Given the description of an element on the screen output the (x, y) to click on. 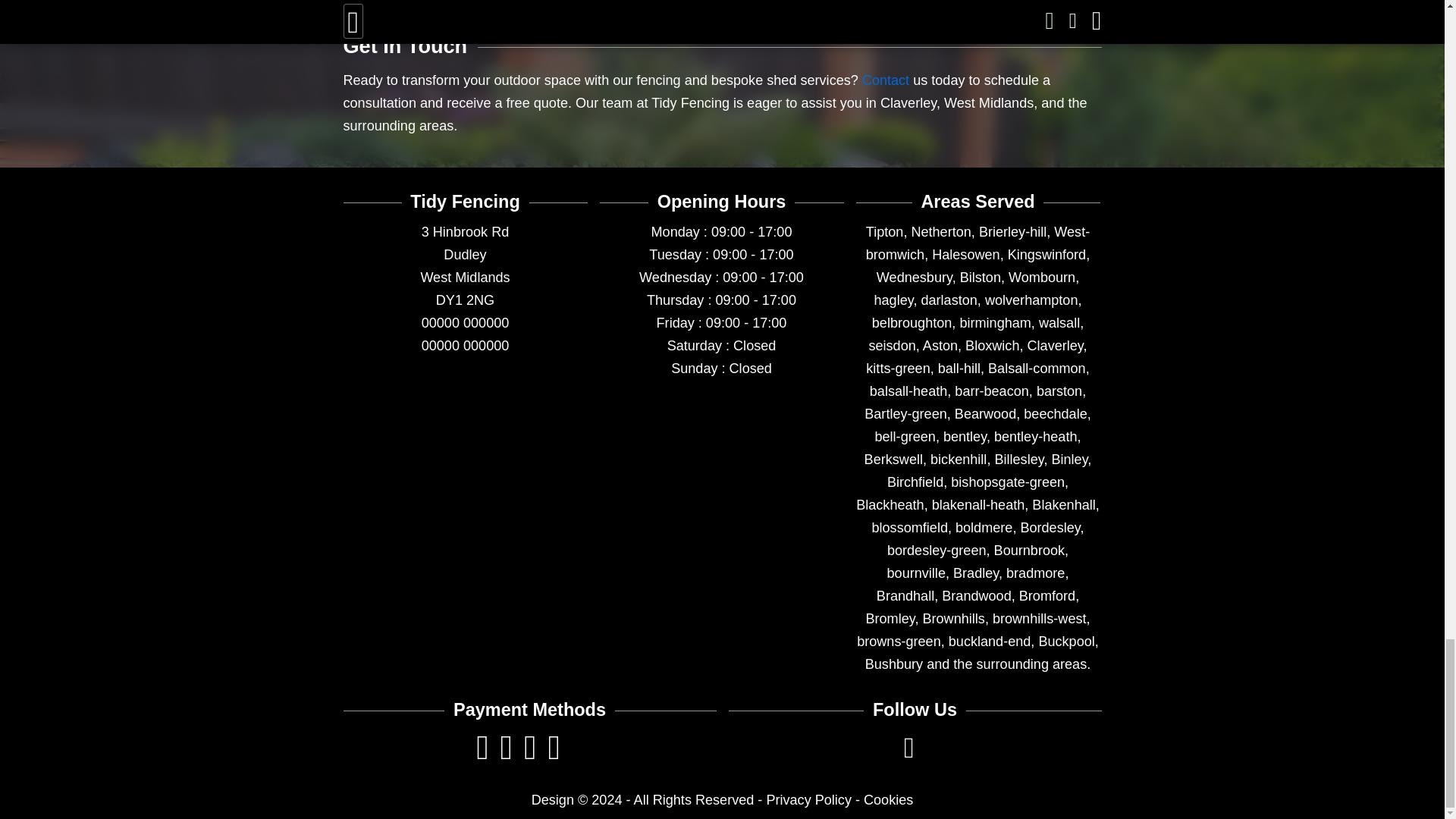
Tipton (885, 231)
belbroughton (912, 322)
seisdon (891, 345)
Bilston (980, 277)
West-bromwich (977, 243)
Wombourn (1042, 277)
Wednesbury (914, 277)
hagley (892, 299)
Aston (940, 345)
Halesowen (964, 254)
Kingswinford (1046, 254)
birmingham (994, 322)
Brierley-hill (1012, 231)
Netherton (941, 231)
wolverhampton (1031, 299)
